Given the description of an element on the screen output the (x, y) to click on. 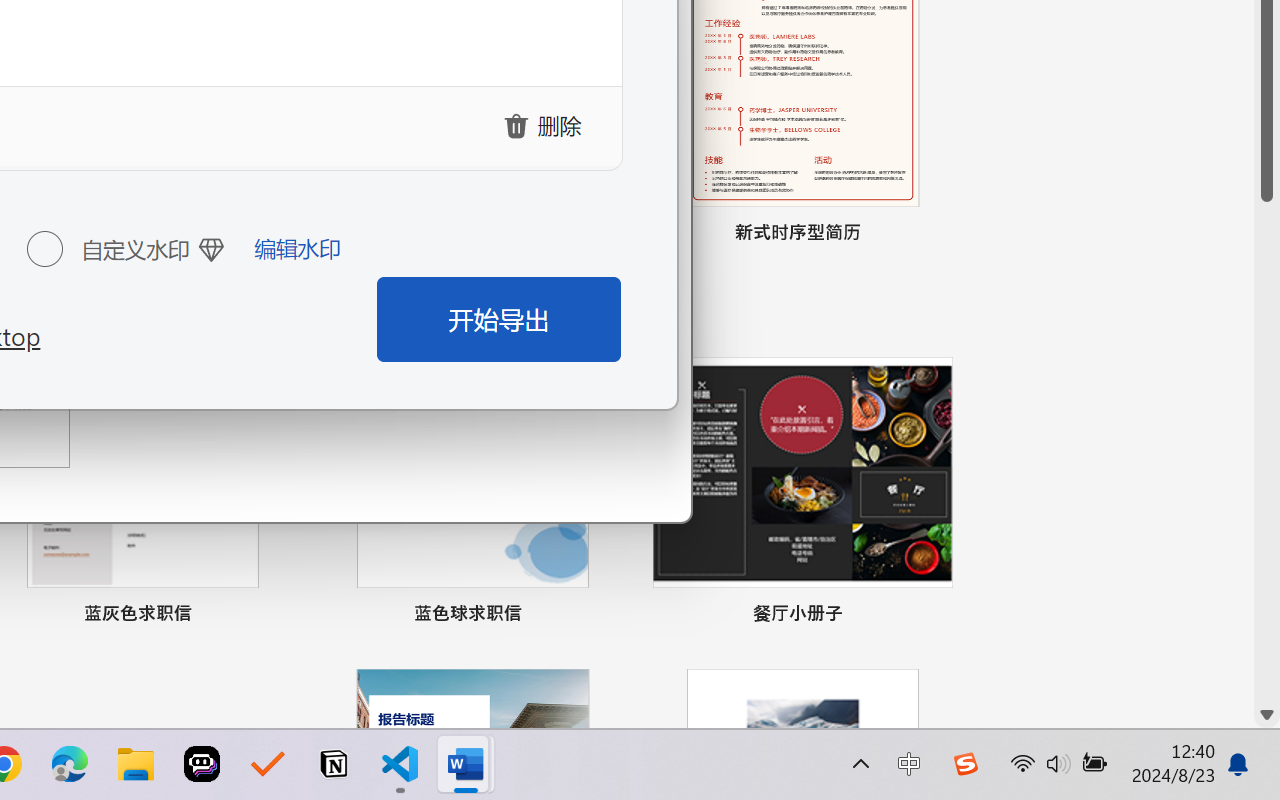
Pin to list (934, 616)
Microsoft Edge (69, 764)
